Given the description of an element on the screen output the (x, y) to click on. 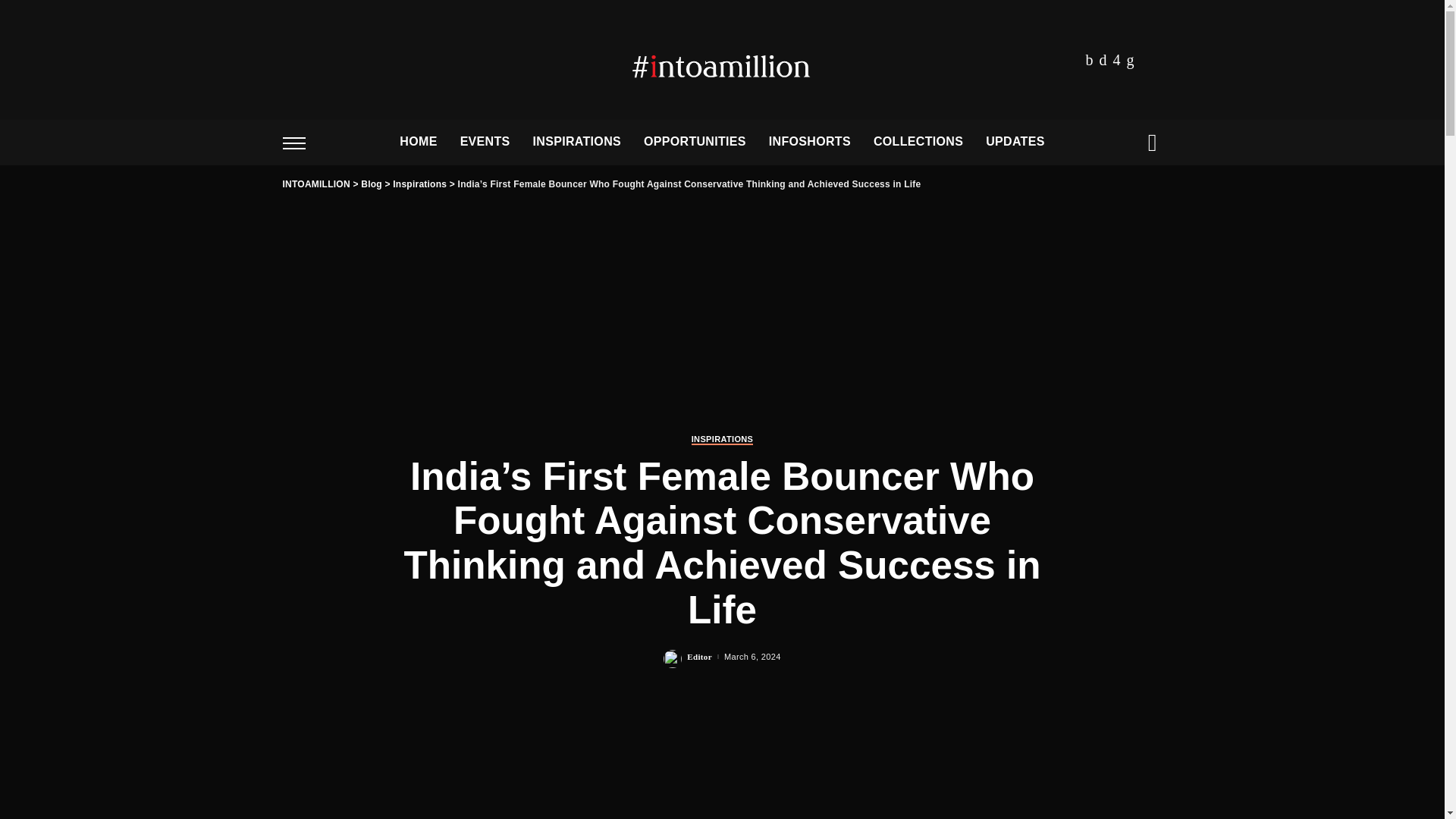
OPPORTUNITIES (694, 142)
HOME (418, 142)
COLLECTIONS (917, 142)
INFOSHORTS (809, 142)
INTOAMILLION (722, 59)
EVENTS (484, 142)
INSPIRATIONS (576, 142)
